Given the description of an element on the screen output the (x, y) to click on. 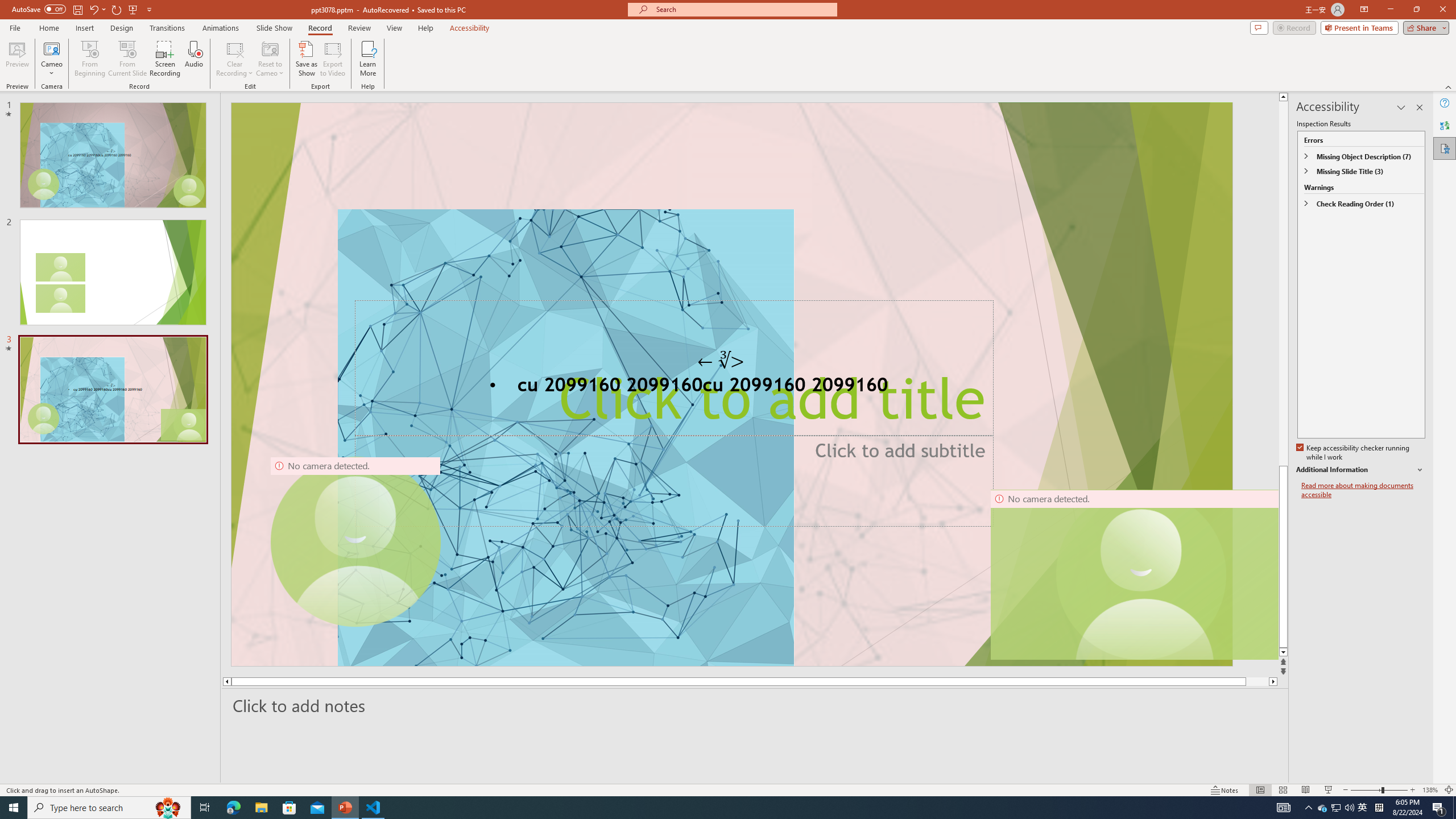
Learn More (368, 58)
Page up (1283, 283)
Camera 11, No camera detected. (1141, 574)
Home (48, 28)
Normal (1260, 790)
Comments (1259, 27)
Zoom (1379, 790)
Zoom to Fit  (1449, 790)
Accessibility (1444, 147)
Screen Recording (165, 58)
File Tab (15, 27)
Slide Show (273, 28)
Camera 9, No camera detected. (355, 542)
Slide Notes (755, 705)
